Given the description of an element on the screen output the (x, y) to click on. 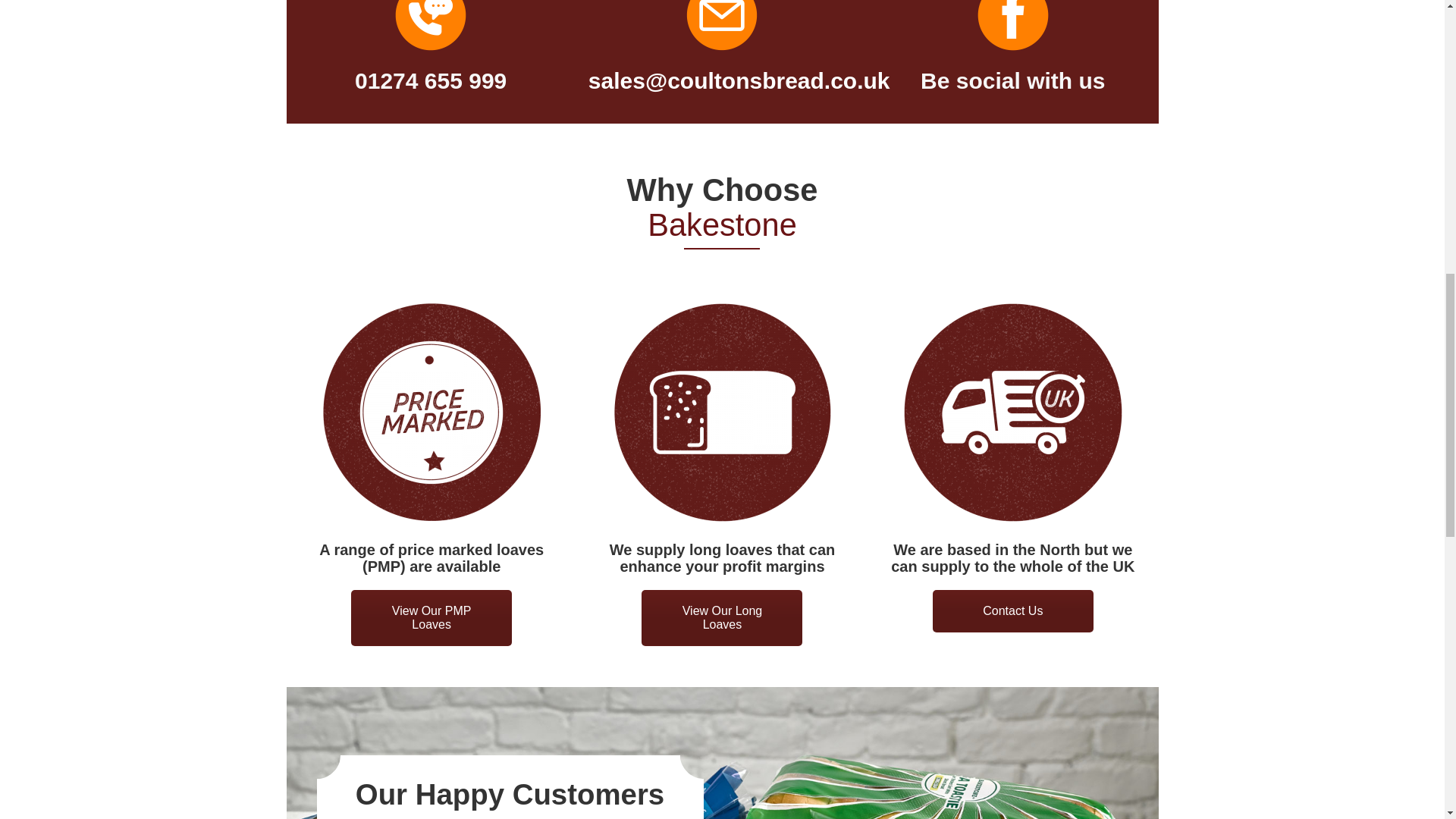
View Our Long Loaves (722, 617)
01274 655 999 (430, 80)
View Our PMP Loaves (431, 617)
Be social with us (1012, 80)
Contact Us (1013, 610)
